Given the description of an element on the screen output the (x, y) to click on. 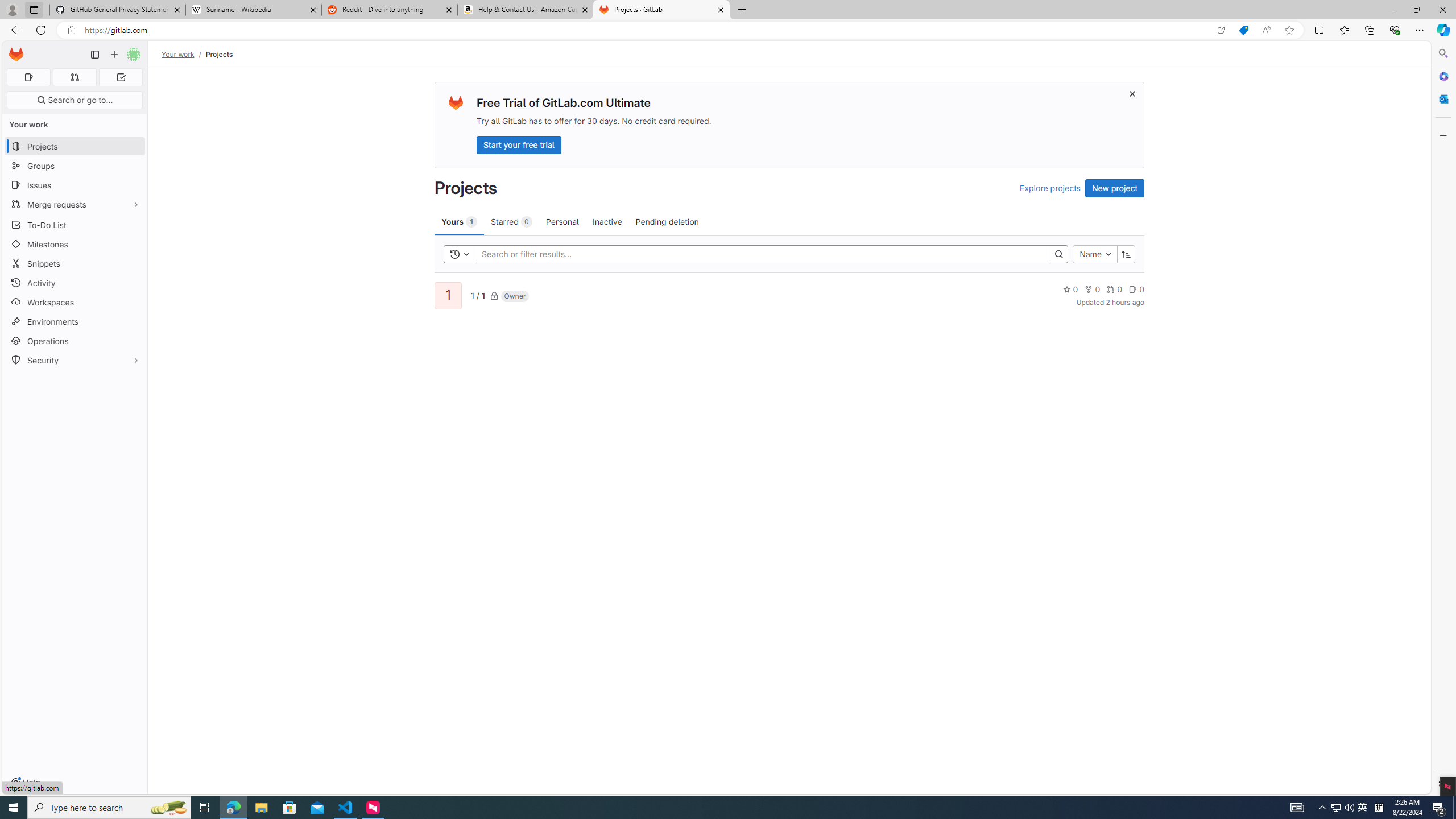
Toggle history (460, 253)
Security (74, 359)
1 (447, 295)
Projects (218, 53)
To-Do List (74, 224)
Dismiss trial promotion (1131, 93)
1 / 1 (477, 294)
Projects (218, 53)
Skip to main content (13, 49)
Help & Contact Us - Amazon Customer Service (525, 9)
Milestones (74, 244)
Operations (74, 340)
